Given the description of an element on the screen output the (x, y) to click on. 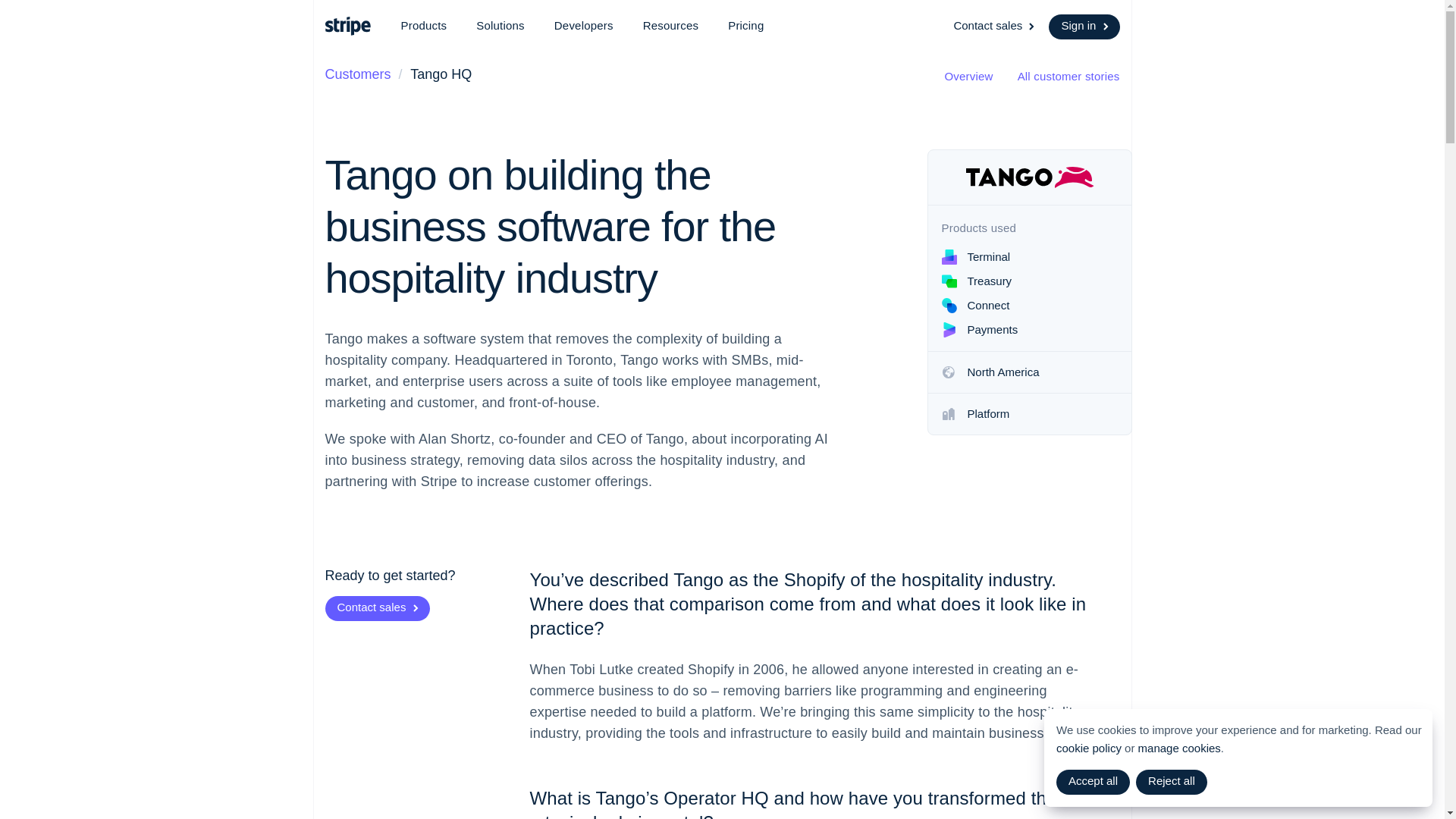
Resources (670, 25)
Developers (583, 25)
Contact sales  (994, 26)
Pricing (745, 25)
Sign in  (1083, 26)
Solutions (500, 25)
Products (423, 25)
